Given the description of an element on the screen output the (x, y) to click on. 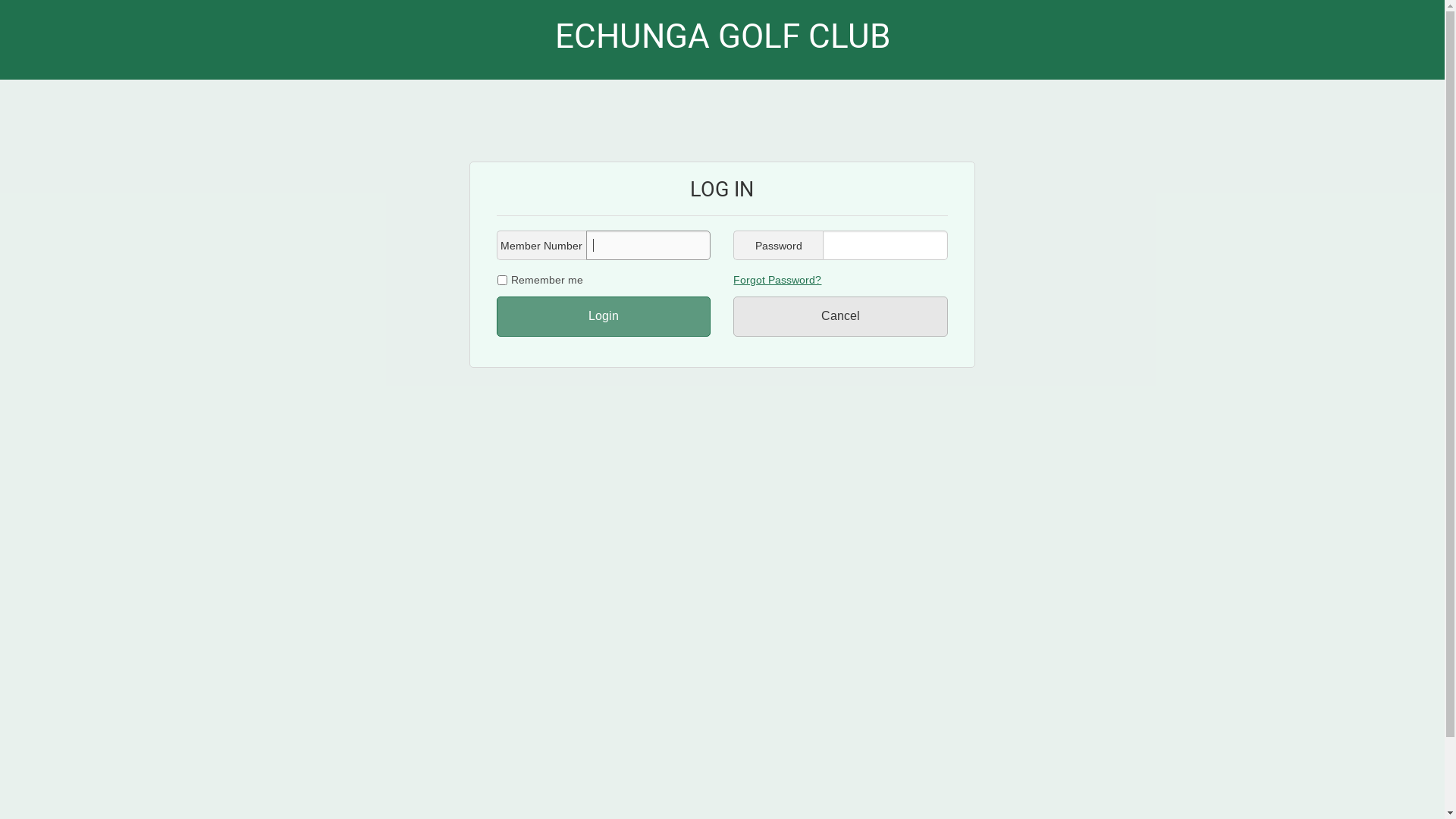
Login Element type: text (603, 316)
Cancel Element type: text (840, 316)
Forgot Password? Element type: text (777, 279)
